Given the description of an element on the screen output the (x, y) to click on. 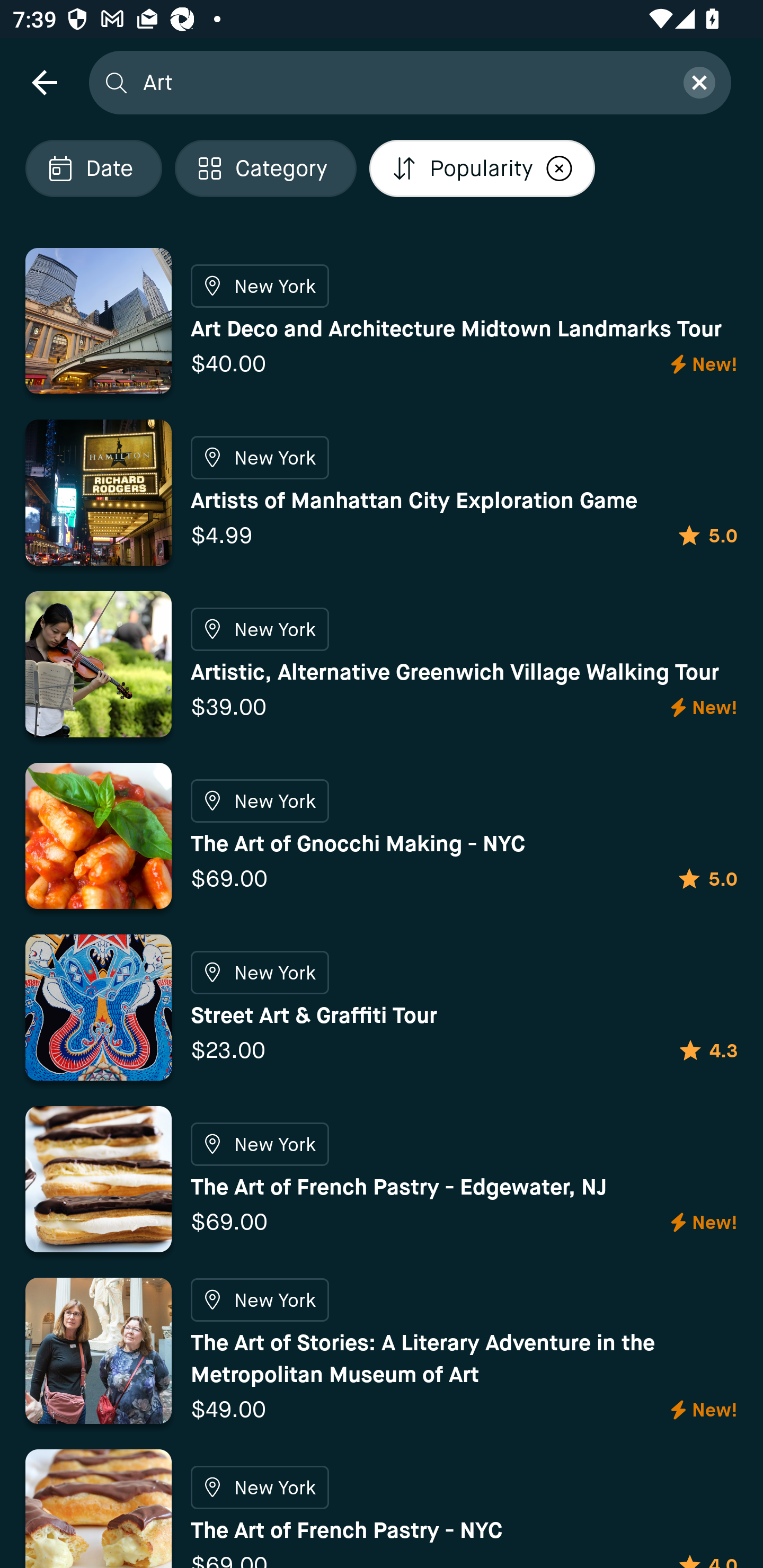
navigation icon (44, 81)
Art (402, 81)
Localized description Date (93, 168)
Localized description Category (265, 168)
Localized description (559, 168)
